Given the description of an element on the screen output the (x, y) to click on. 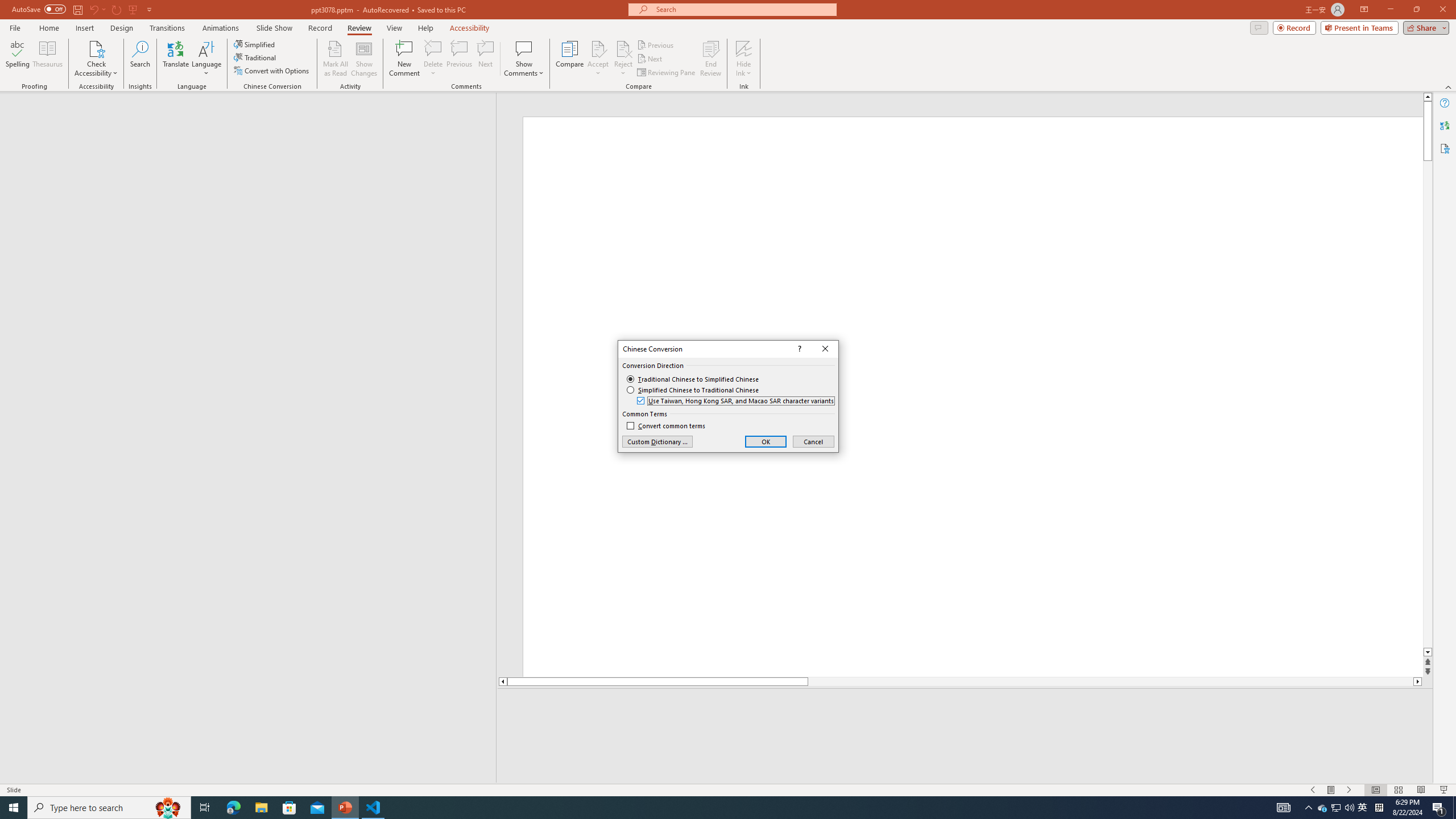
New Comment (403, 58)
Custom Dictionary ... (657, 440)
Action Center, 1 new notification (1439, 807)
Show Comments (524, 58)
Hide Ink (743, 58)
Running applications (700, 807)
Delete (432, 58)
Convert common terms (666, 425)
